Given the description of an element on the screen output the (x, y) to click on. 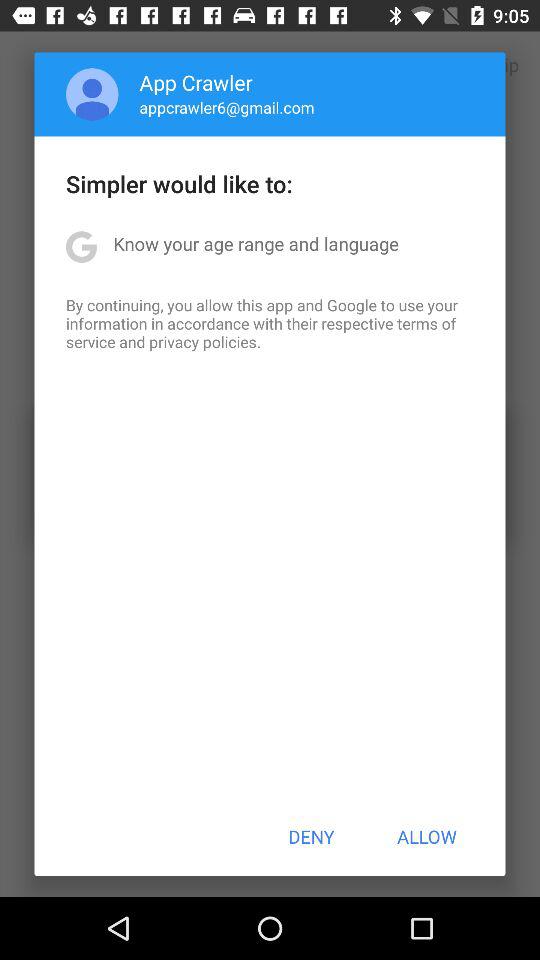
flip until appcrawler6@gmail.com icon (226, 107)
